Given the description of an element on the screen output the (x, y) to click on. 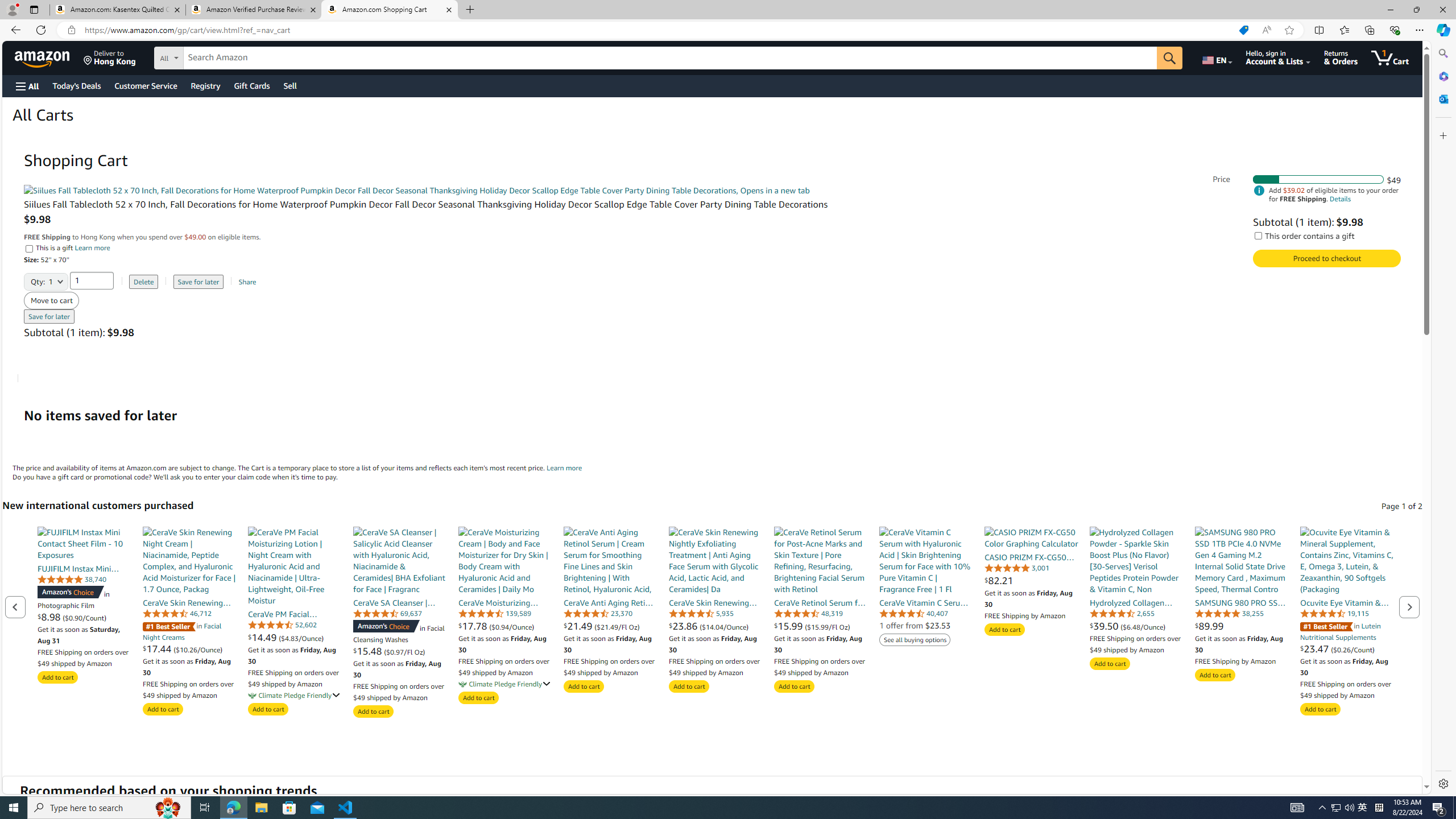
($0.97/Fl Oz) (404, 651)
$82.21 (1031, 580)
Amazon.com Shopping Cart (390, 9)
